Given the description of an element on the screen output the (x, y) to click on. 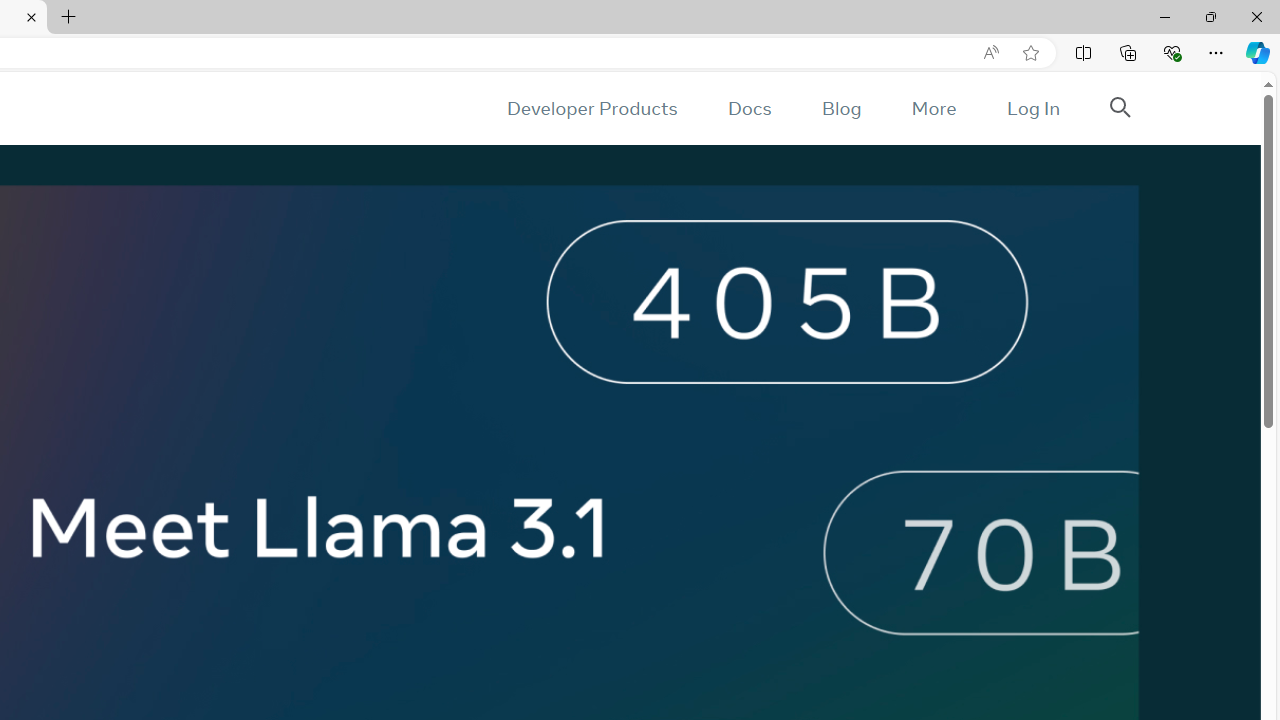
Blog (841, 108)
Log In (1032, 108)
Developer Products (591, 108)
More (933, 108)
More (933, 108)
